Given the description of an element on the screen output the (x, y) to click on. 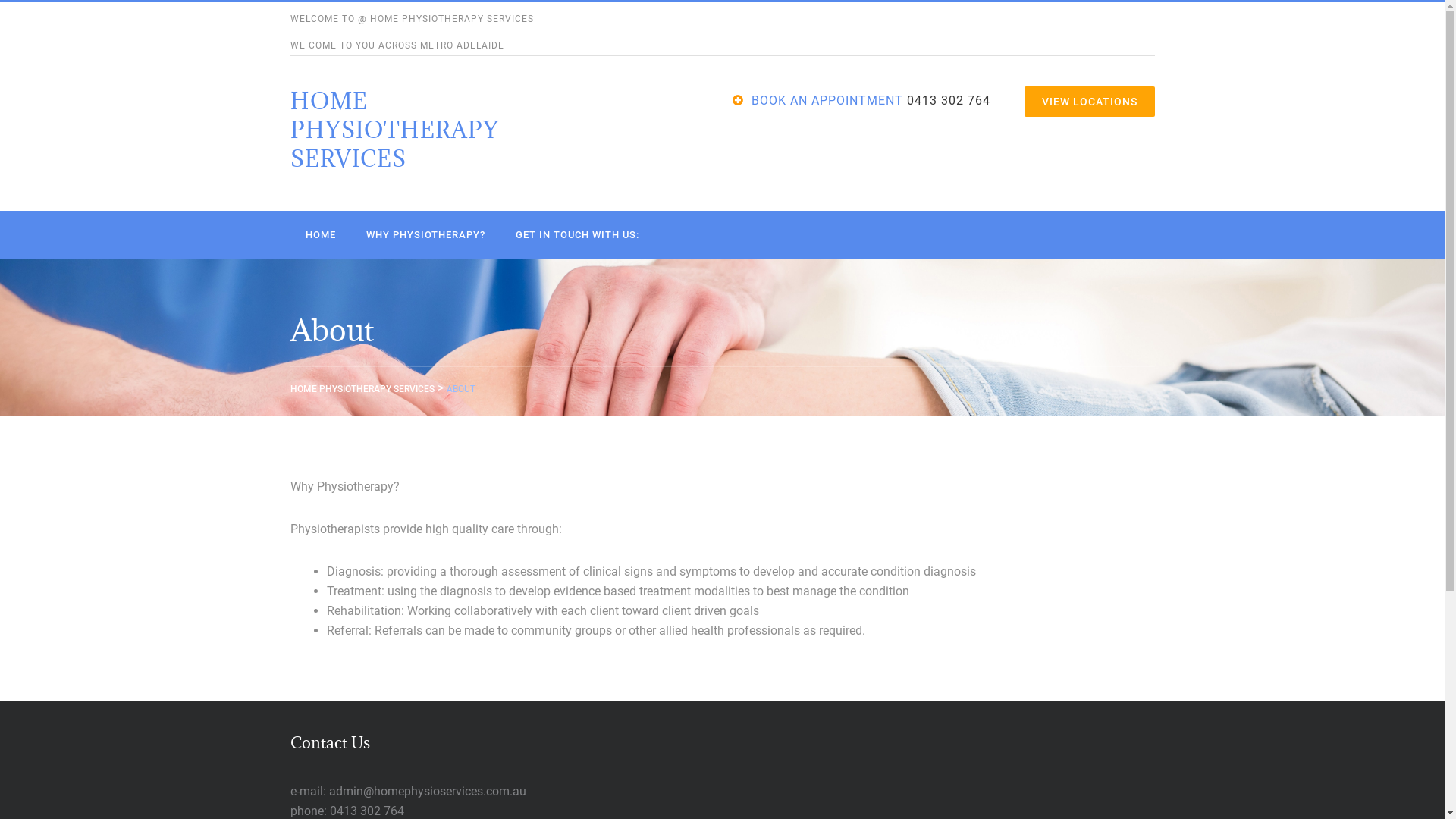
BOOK AN APPOINTMENT Element type: text (826, 100)
HOME PHYSIOTHERAPY SERVICES Element type: text (393, 129)
HOME PHYSIOTHERAPY SERVICES Element type: text (361, 388)
VIEW LOCATIONS Element type: text (1088, 101)
HOME Element type: text (319, 234)
GET IN TOUCH WITH US: Element type: text (577, 234)
WHY PHYSIOTHERAPY? Element type: text (424, 234)
